Given the description of an element on the screen output the (x, y) to click on. 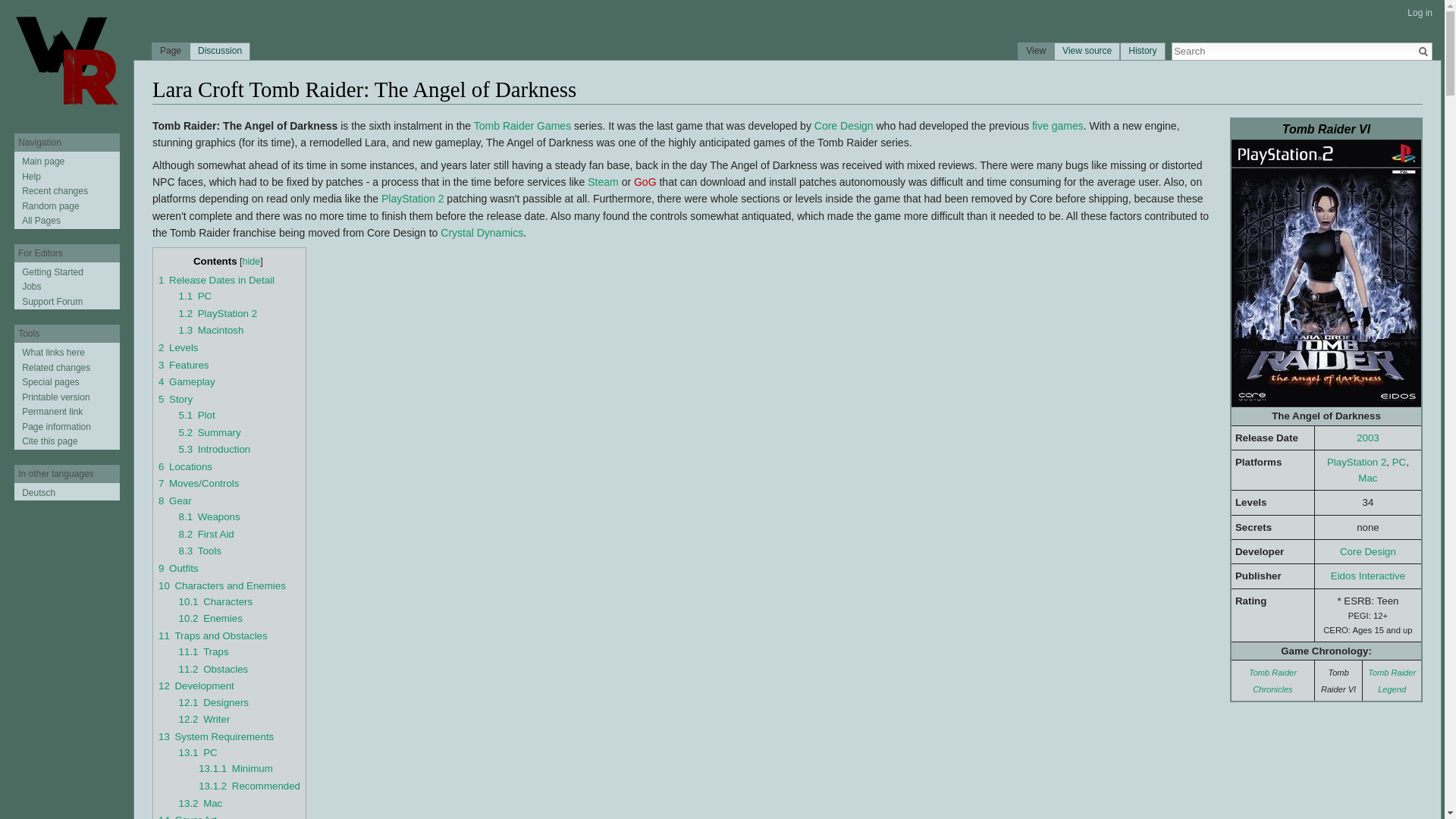
Crystal Dynamics (481, 232)
GoG (644, 182)
1.1 PC (195, 296)
4 Gameplay (186, 381)
5.3 Introduction (214, 449)
Tomb Raider Games (522, 125)
10.1 Characters (216, 601)
Tomb Raider Legend (1391, 680)
8.2 First Aid (206, 533)
10 Characters and Enemies (221, 585)
